Given the description of an element on the screen output the (x, y) to click on. 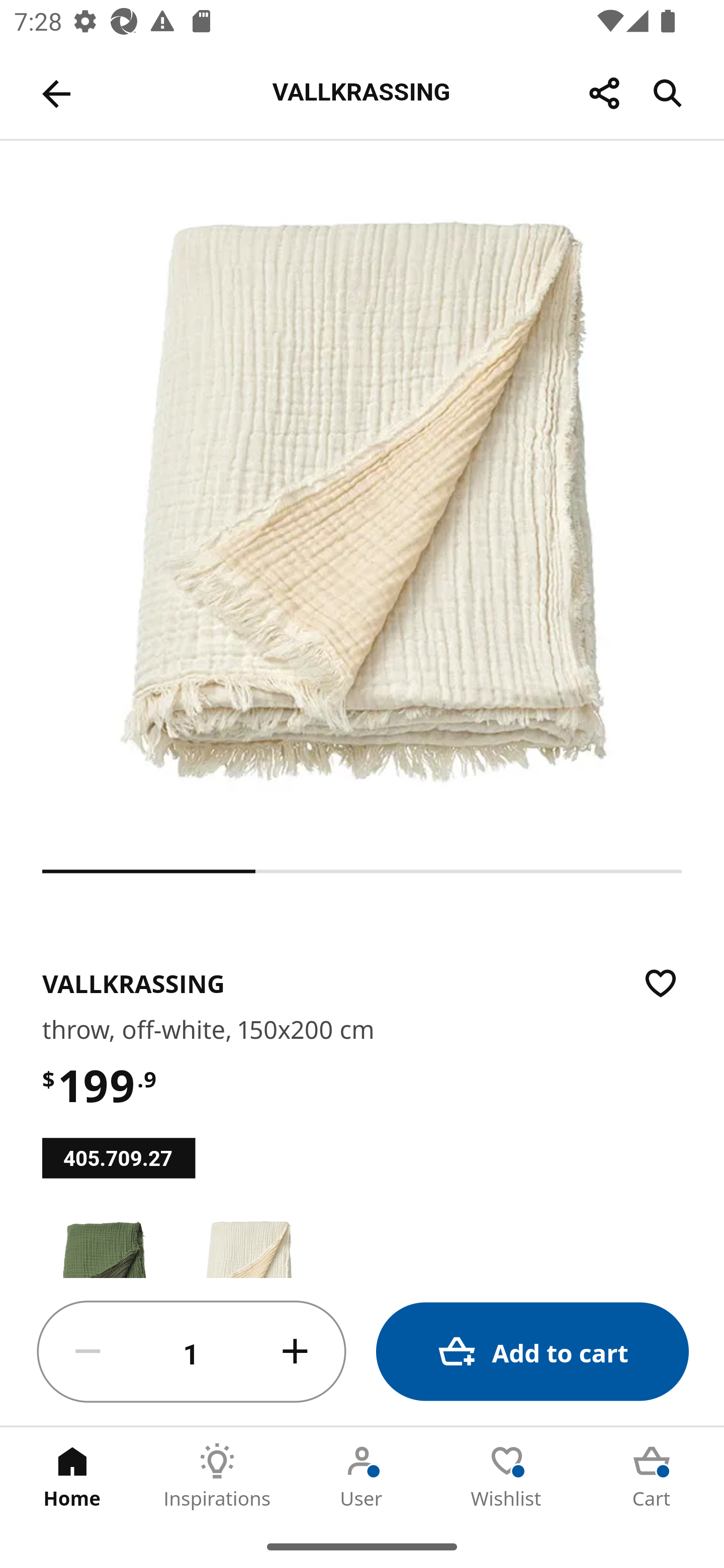
Add to cart (531, 1352)
1 (191, 1352)
Home
Tab 1 of 5 (72, 1476)
Inspirations
Tab 2 of 5 (216, 1476)
User
Tab 3 of 5 (361, 1476)
Wishlist
Tab 4 of 5 (506, 1476)
Cart
Tab 5 of 5 (651, 1476)
